Given the description of an element on the screen output the (x, y) to click on. 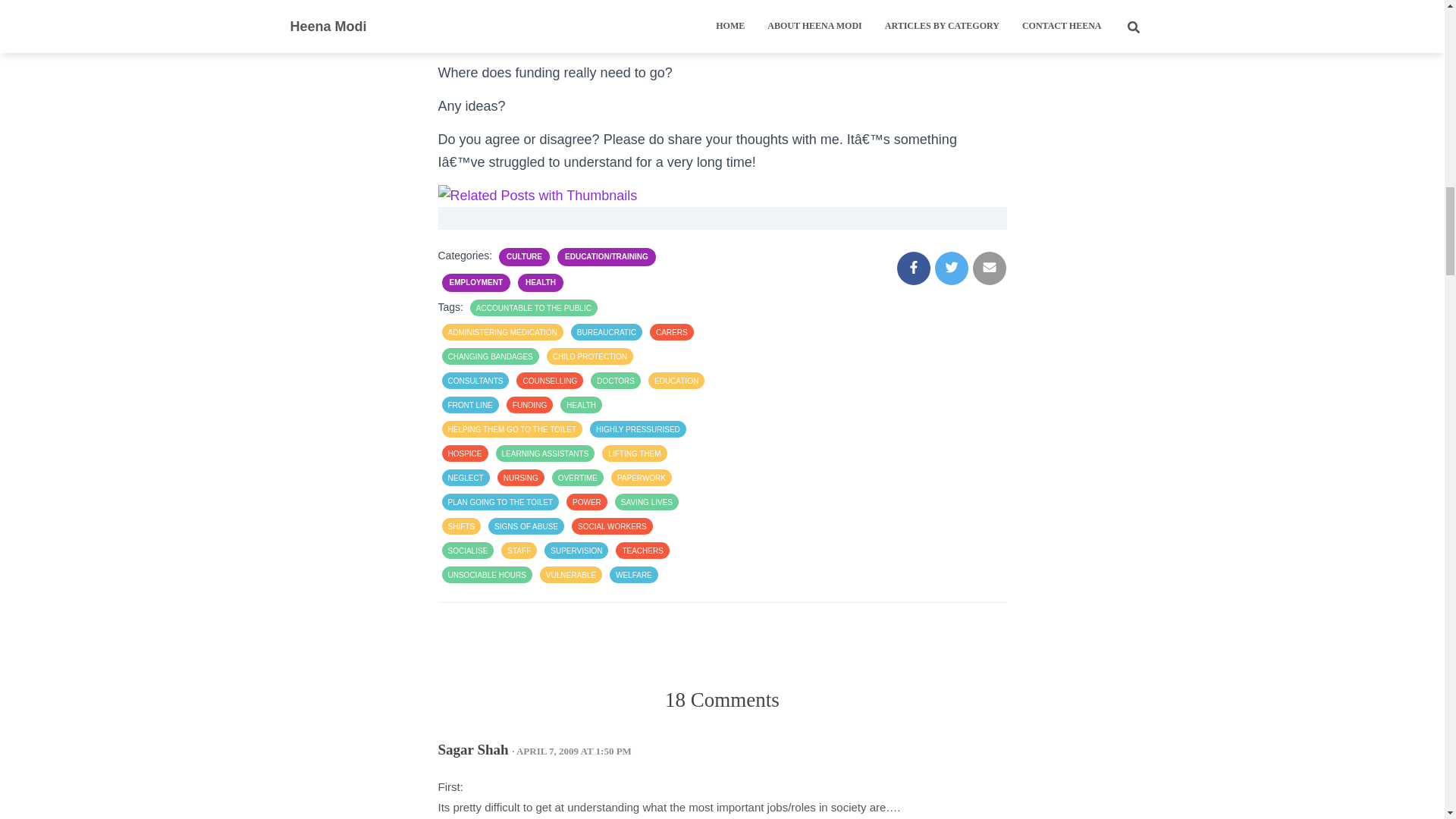
CONSULTANTS (474, 380)
EMPLOYMENT (475, 282)
CULTURE (523, 256)
NEGLECT (464, 478)
HEALTH (540, 282)
ADMINISTERING MEDICATION (501, 332)
LIFTING THEM (634, 453)
PAPERWORK (641, 478)
HELPING THEM GO TO THE TOILET (511, 429)
LEARNING ASSISTANTS (545, 453)
